Given the description of an element on the screen output the (x, y) to click on. 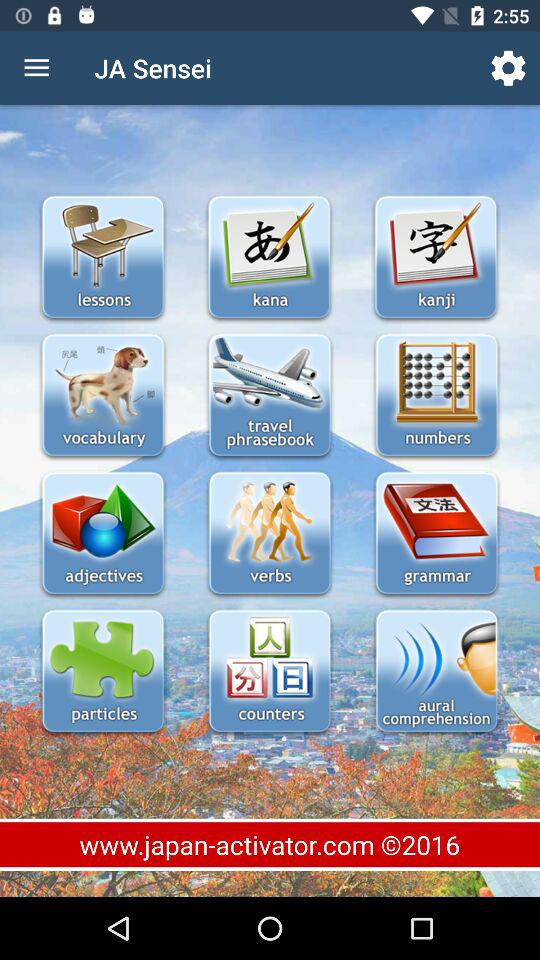
push the picture (435, 258)
